Given the description of an element on the screen output the (x, y) to click on. 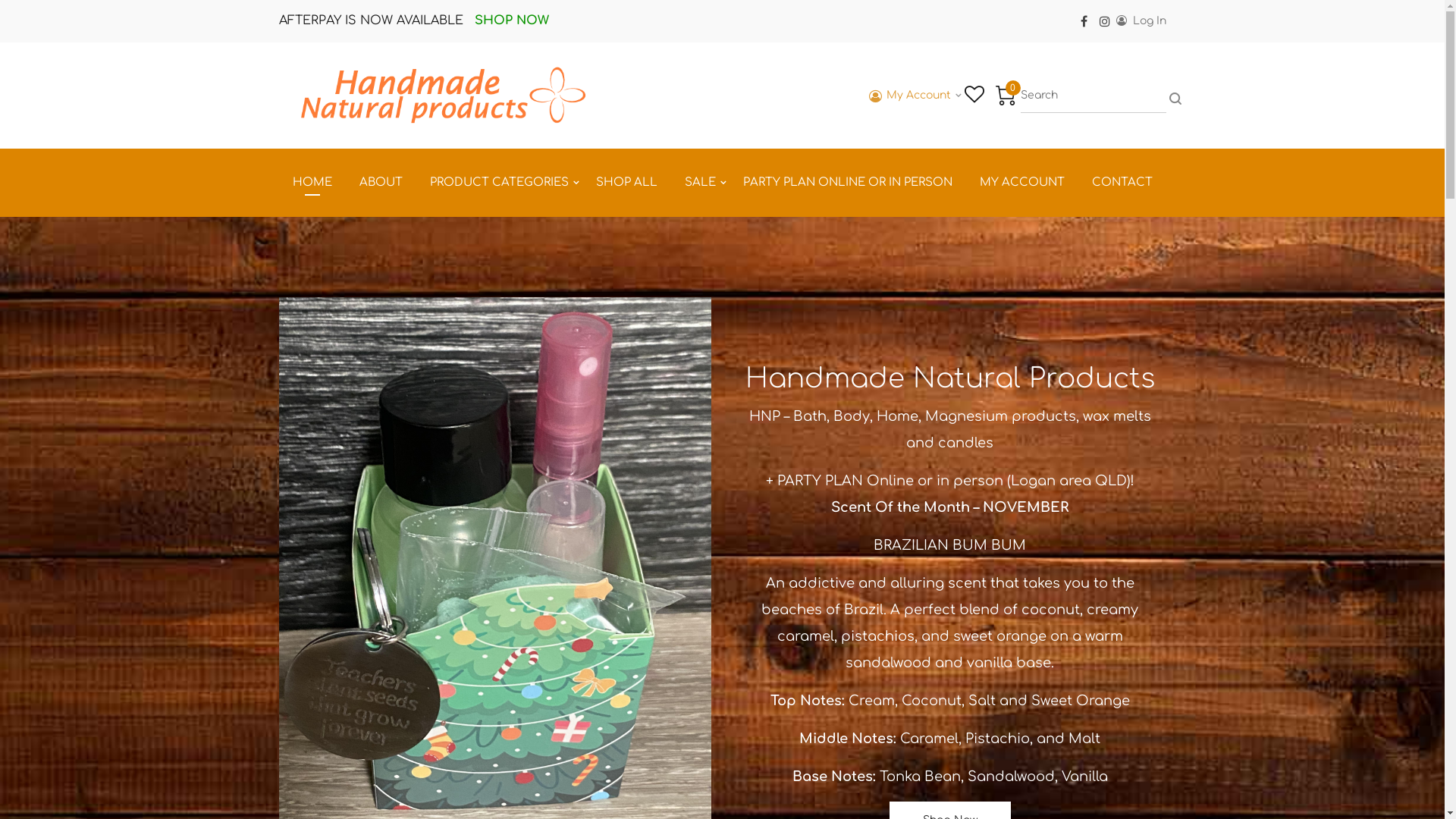
PARTY PLAN ONLINE OR IN PERSON Element type: text (847, 182)
SHOP ALL Element type: text (626, 182)
CONTACT Element type: text (1122, 182)
0 Element type: text (1004, 95)
MY ACCOUNT Element type: text (1022, 182)
AFTERPAY IS NOW AVAILABLE SHOP NOW Element type: text (414, 20)
Log In Element type: text (1141, 21)
My Account Element type: text (909, 95)
SALE Element type: text (699, 182)
HOME Element type: text (312, 182)
PRODUCT CATEGORIES Element type: text (498, 182)
ABOUT Element type: text (380, 182)
